Given the description of an element on the screen output the (x, y) to click on. 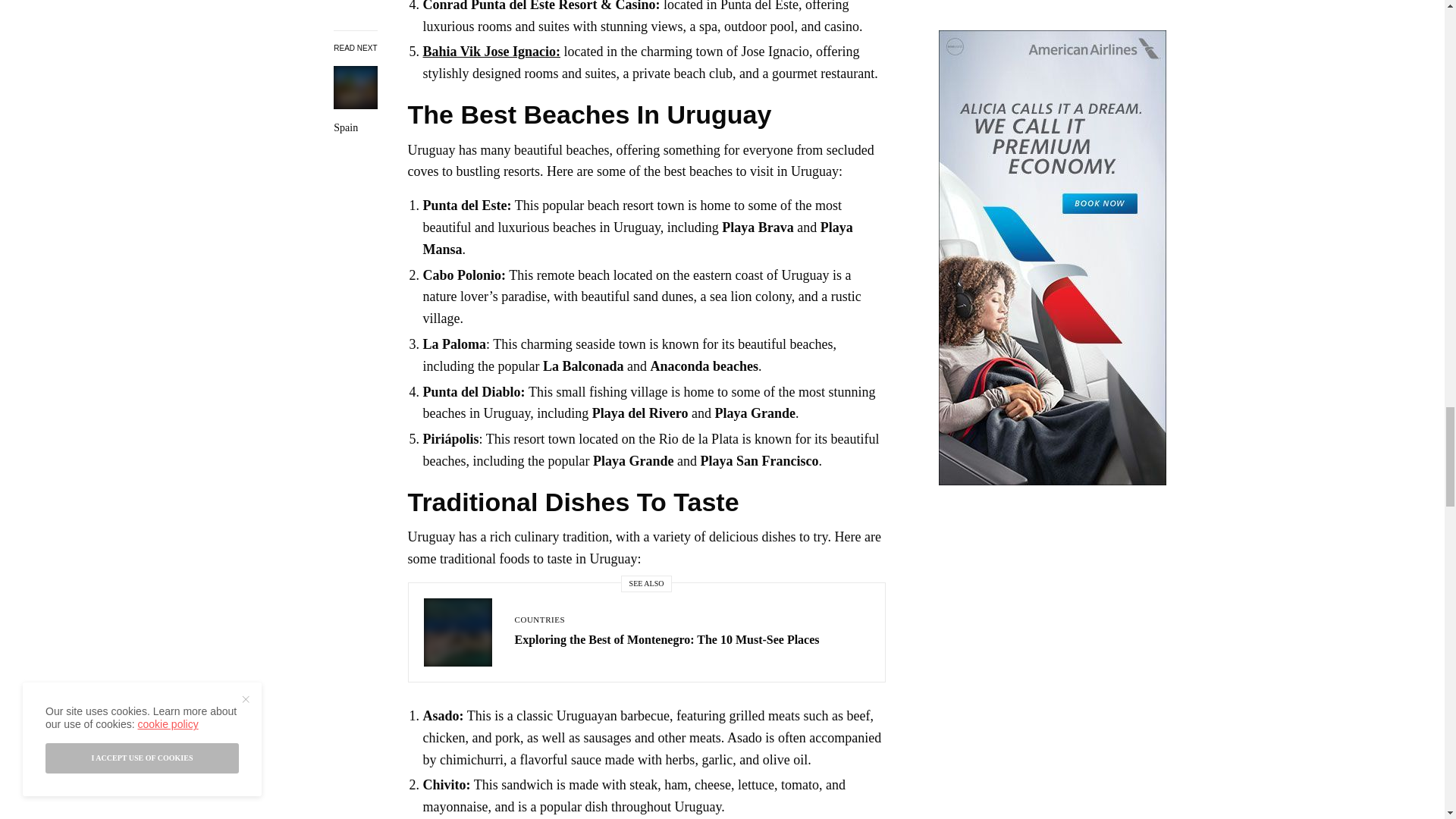
Madrid Spain Gran Via Cityscape - The Voyage Magazine (355, 2)
Spain (355, 23)
Discover The Best Of Uruguay With This Luxury Travel Guide (355, 23)
